Given the description of an element on the screen output the (x, y) to click on. 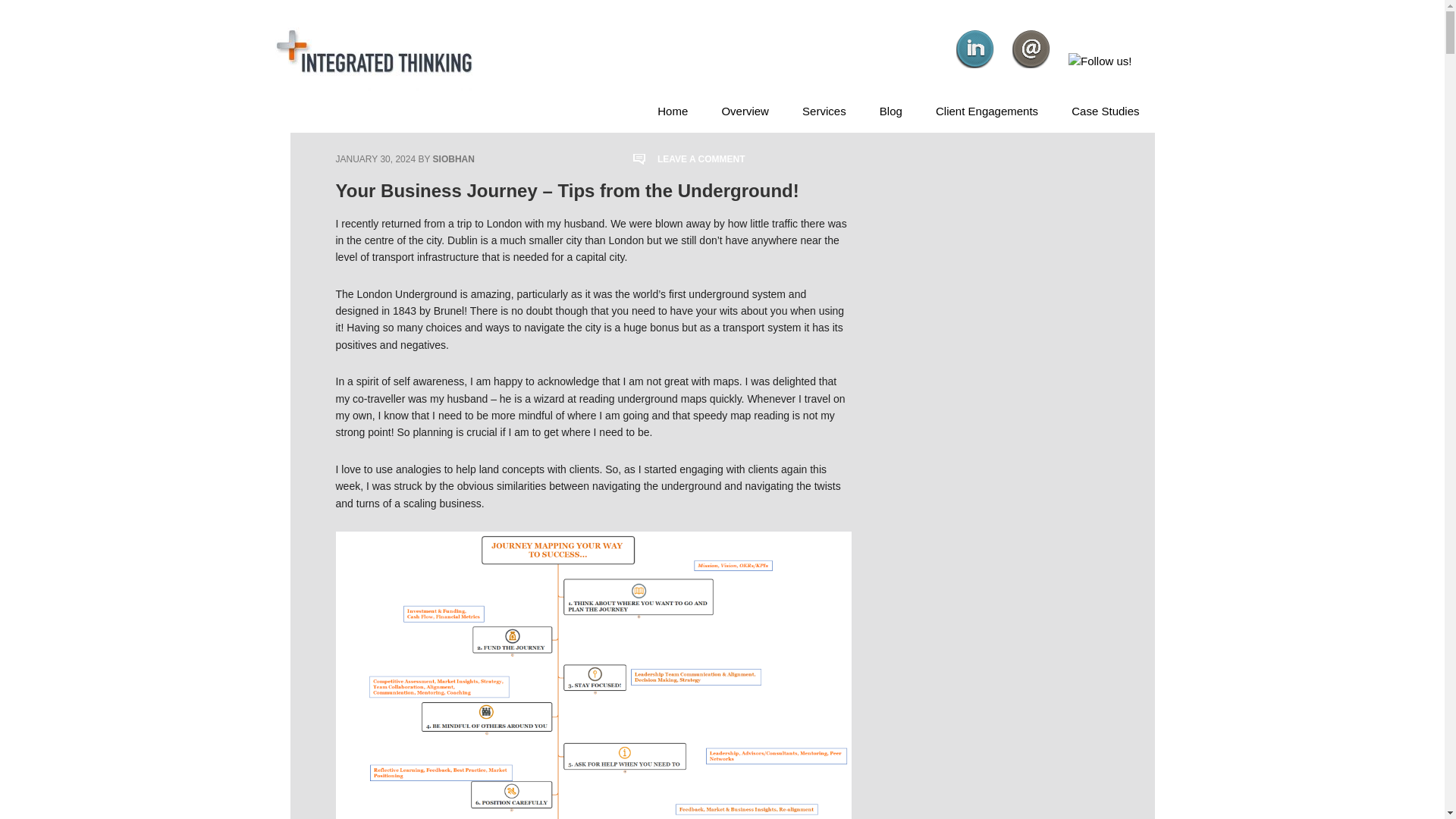
Case Studies (1105, 111)
Blog (890, 111)
Overview (745, 111)
IntegratedThinking (373, 52)
Home (672, 111)
Product Management and Strategic Marketing Services (824, 111)
Email (1030, 48)
Energise and Empower Clients to Achieve Great Things! (986, 111)
LinkedIn (975, 48)
Follow us! (1100, 61)
